Given the description of an element on the screen output the (x, y) to click on. 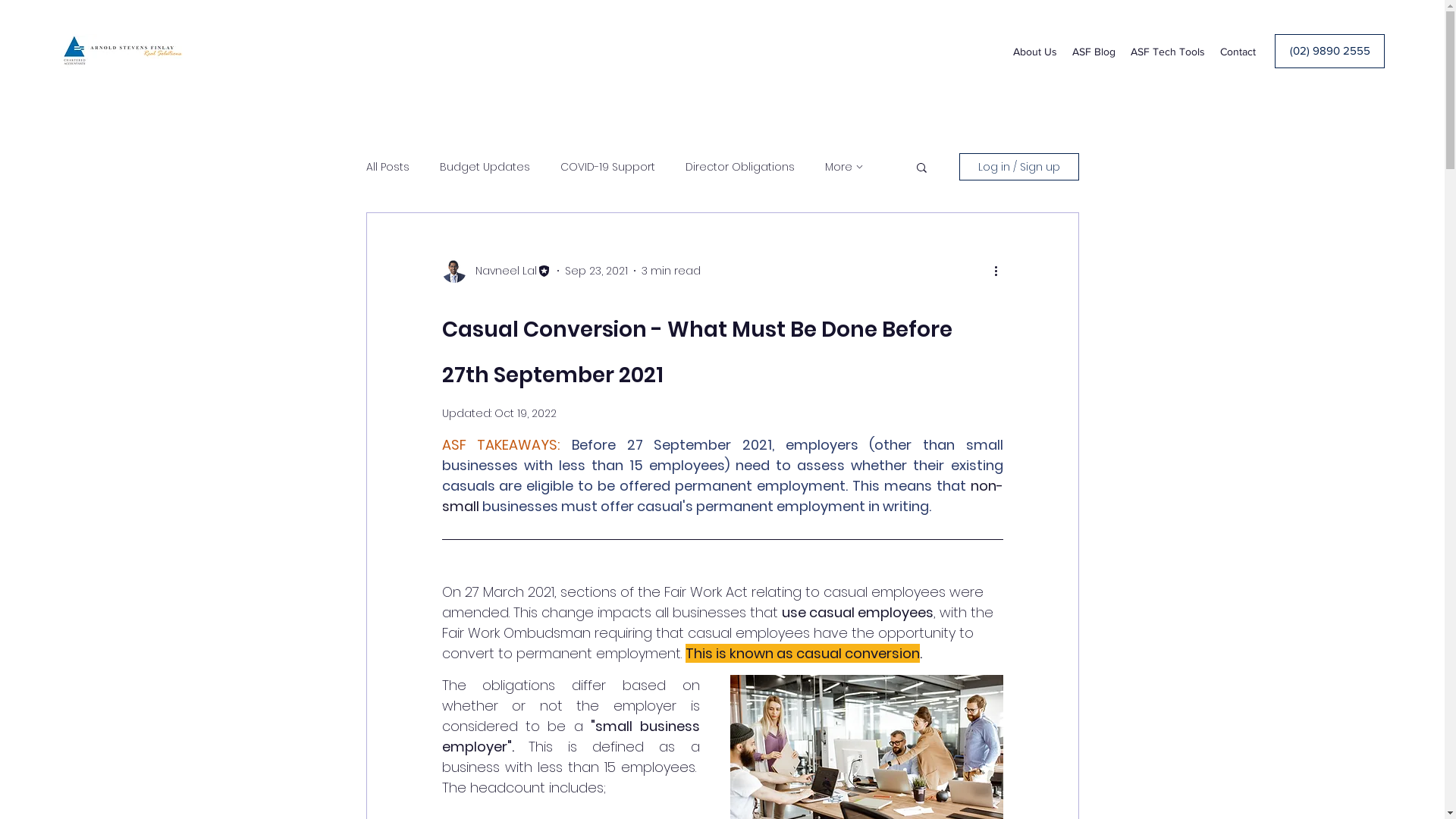
About Us Element type: text (1034, 51)
Director Obligations Element type: text (739, 167)
Contact Element type: text (1237, 51)
Budget Updates Element type: text (484, 167)
COVID-19 Support Element type: text (606, 167)
ASF Blog Element type: text (1093, 51)
(02) 9890 2555 Element type: text (1329, 51)
All Posts Element type: text (386, 167)
Log in / Sign up Element type: text (1018, 166)
